Given the description of an element on the screen output the (x, y) to click on. 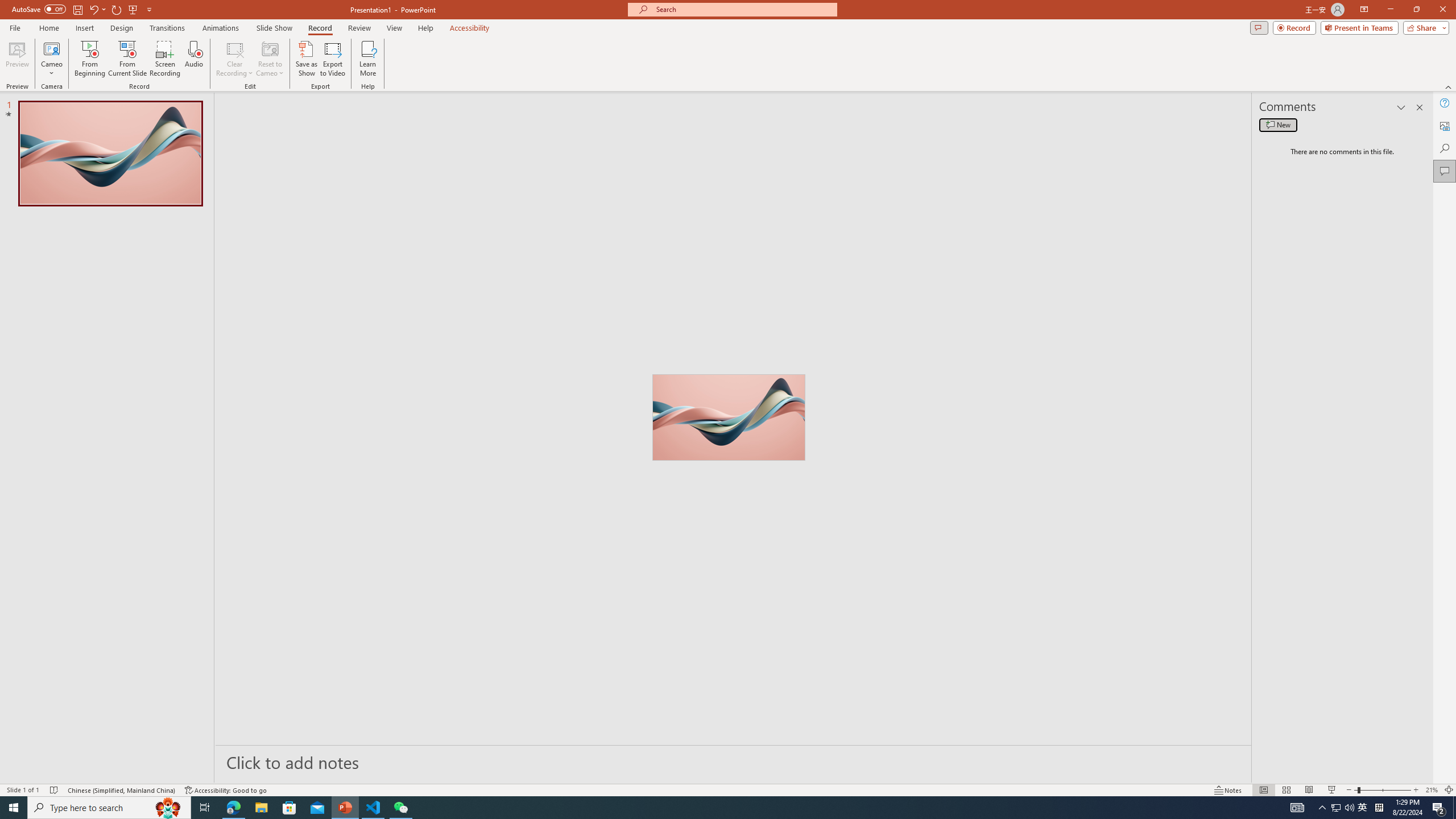
Audio (193, 58)
Save as Show (306, 58)
